Given the description of an element on the screen output the (x, y) to click on. 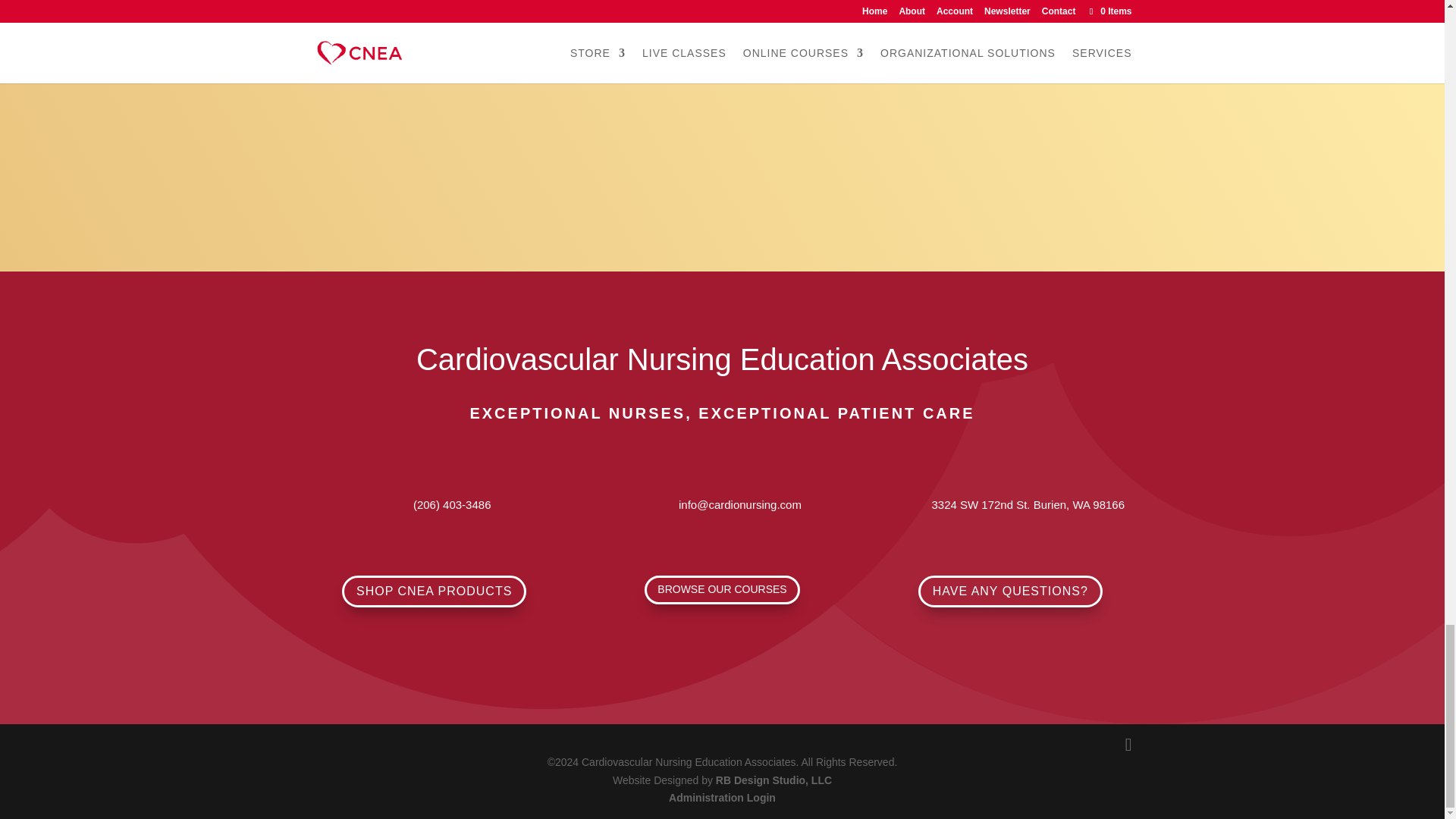
Administration Login (722, 797)
HAVE ANY QUESTIONS? (1010, 591)
SHOP CNEA PRODUCTS (433, 591)
RB Design Studio, LLC (773, 779)
BROWSE OUR COURSES (722, 589)
